Given the description of an element on the screen output the (x, y) to click on. 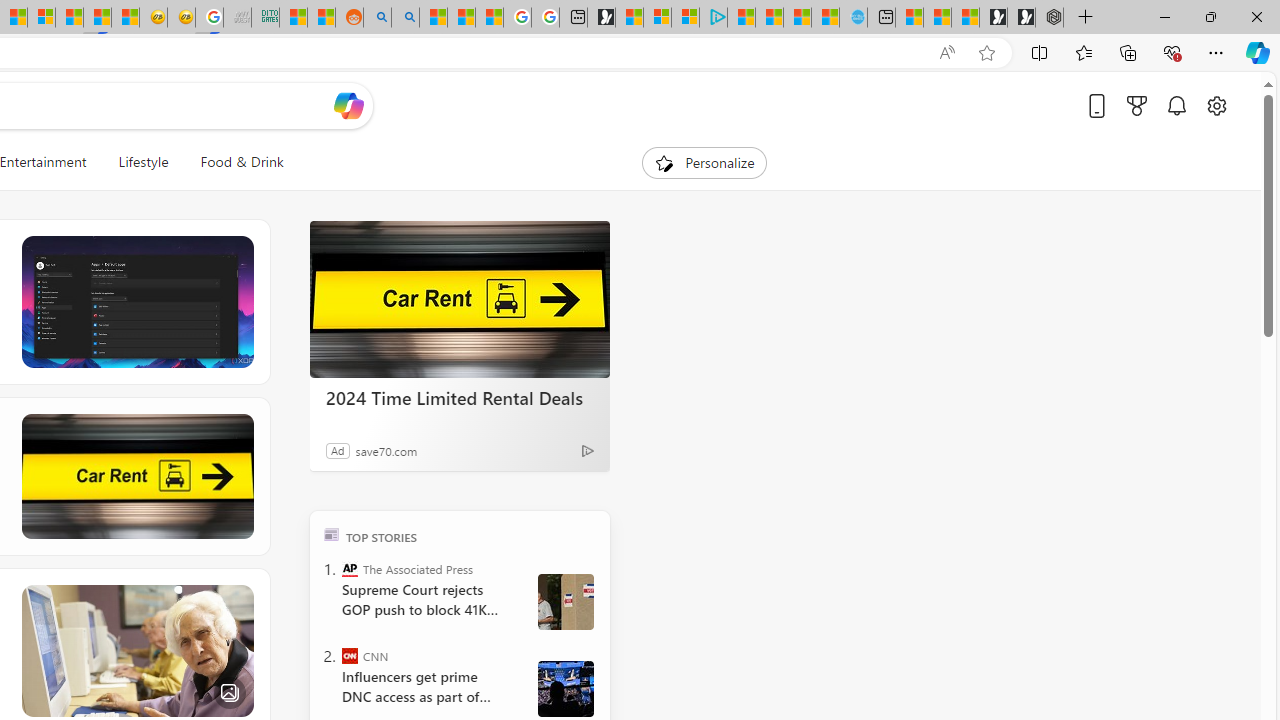
The Associated Press (349, 568)
